Given the description of an element on the screen output the (x, y) to click on. 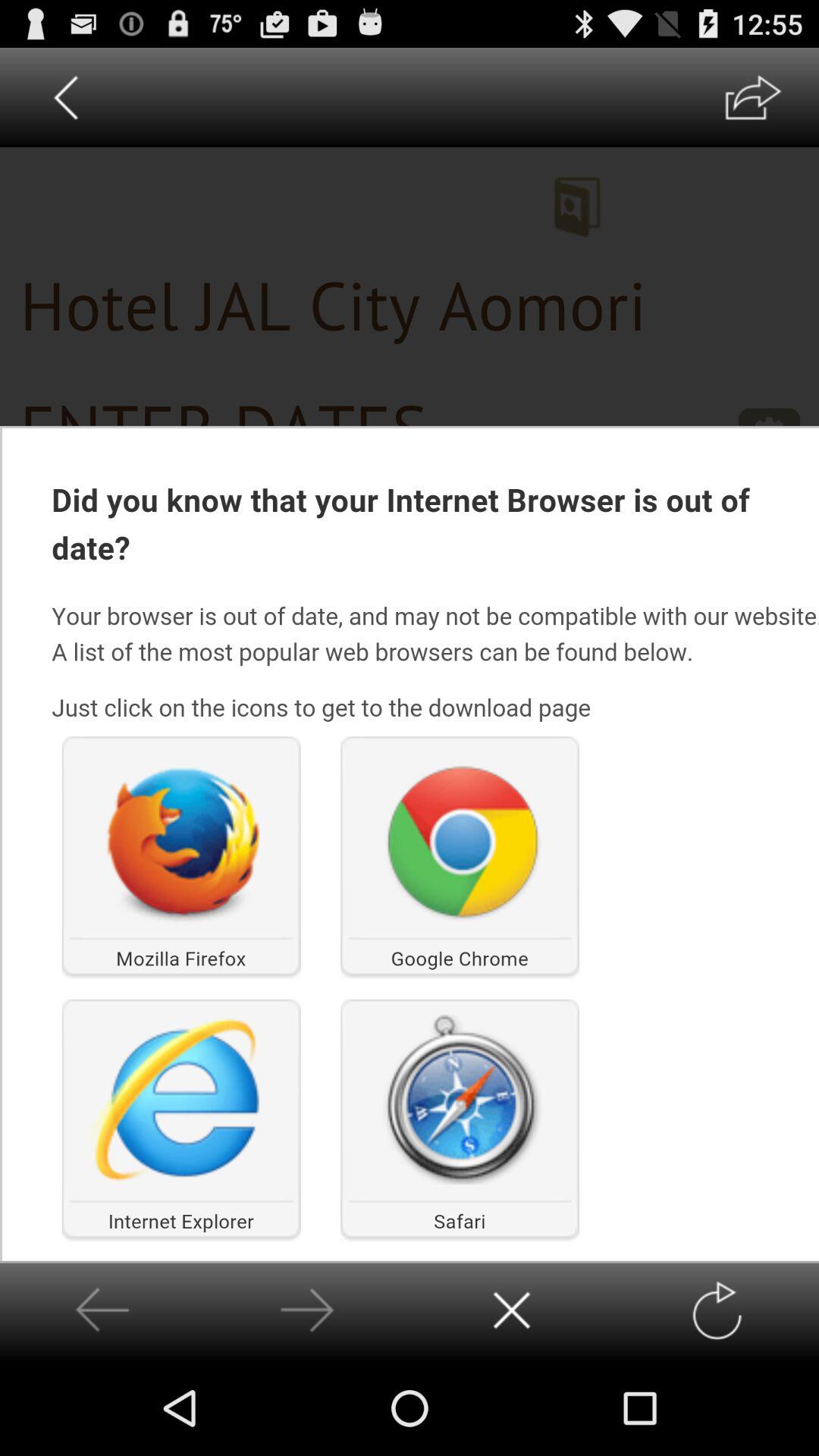
go forward (716, 1310)
